Given the description of an element on the screen output the (x, y) to click on. 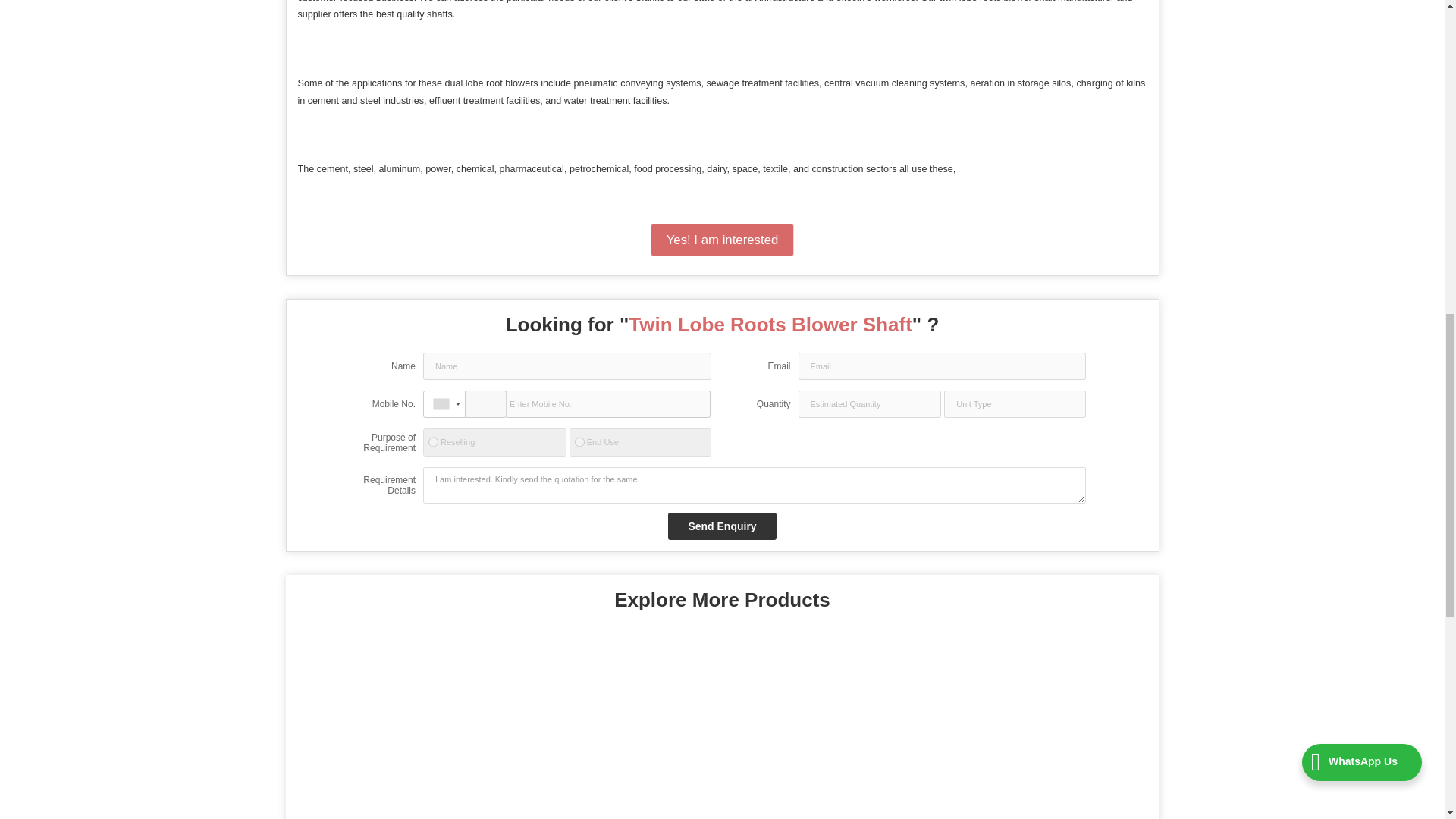
Reselling (433, 441)
End Use (580, 441)
Send Enquiry (722, 525)
